Given the description of an element on the screen output the (x, y) to click on. 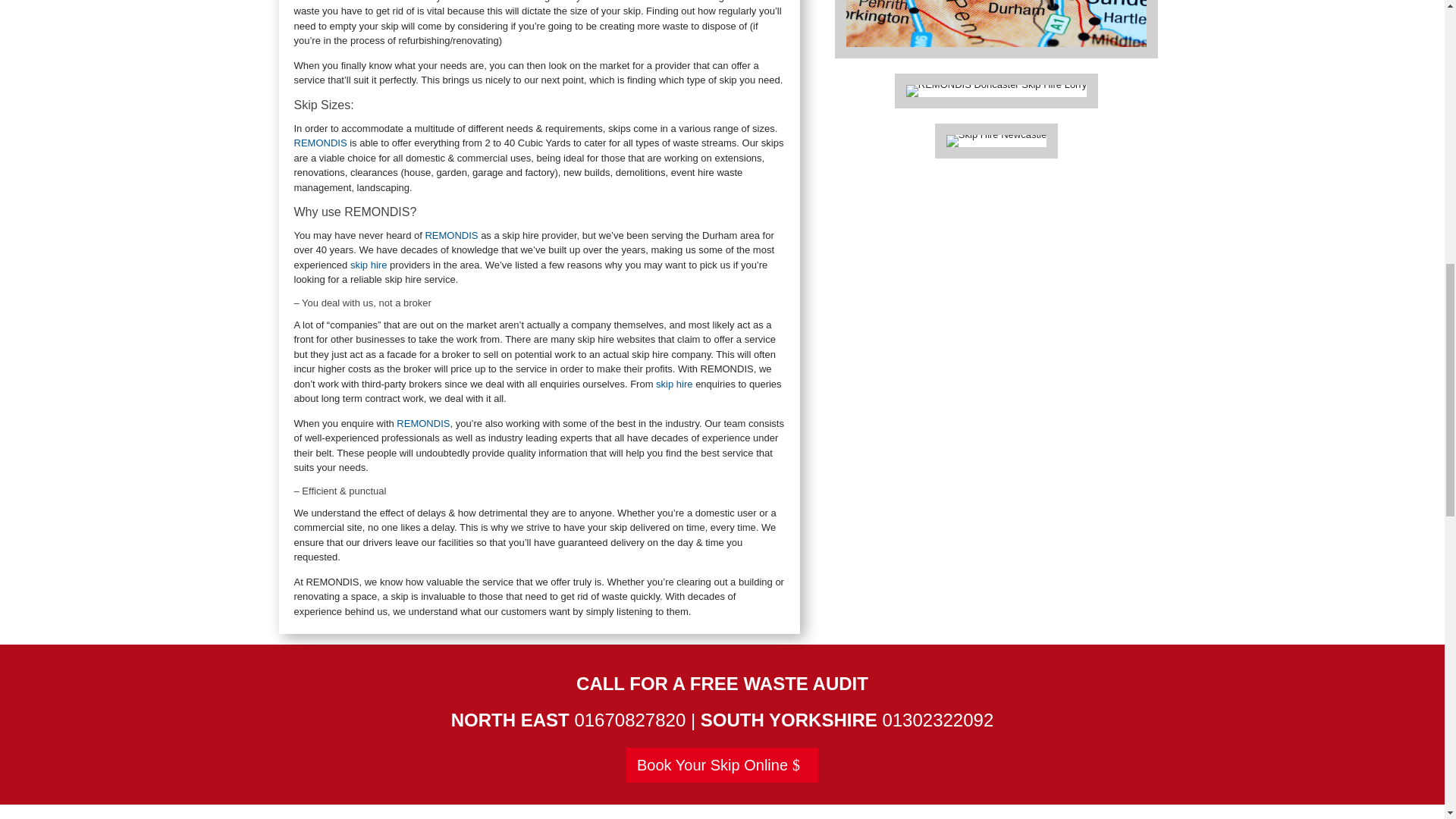
REMONDIS Doncaster Skip Hire Lorry (996, 91)
Close up Shot of Pin in a Map Durham (996, 23)
Skip Hire Newcastle (996, 141)
